Given the description of an element on the screen output the (x, y) to click on. 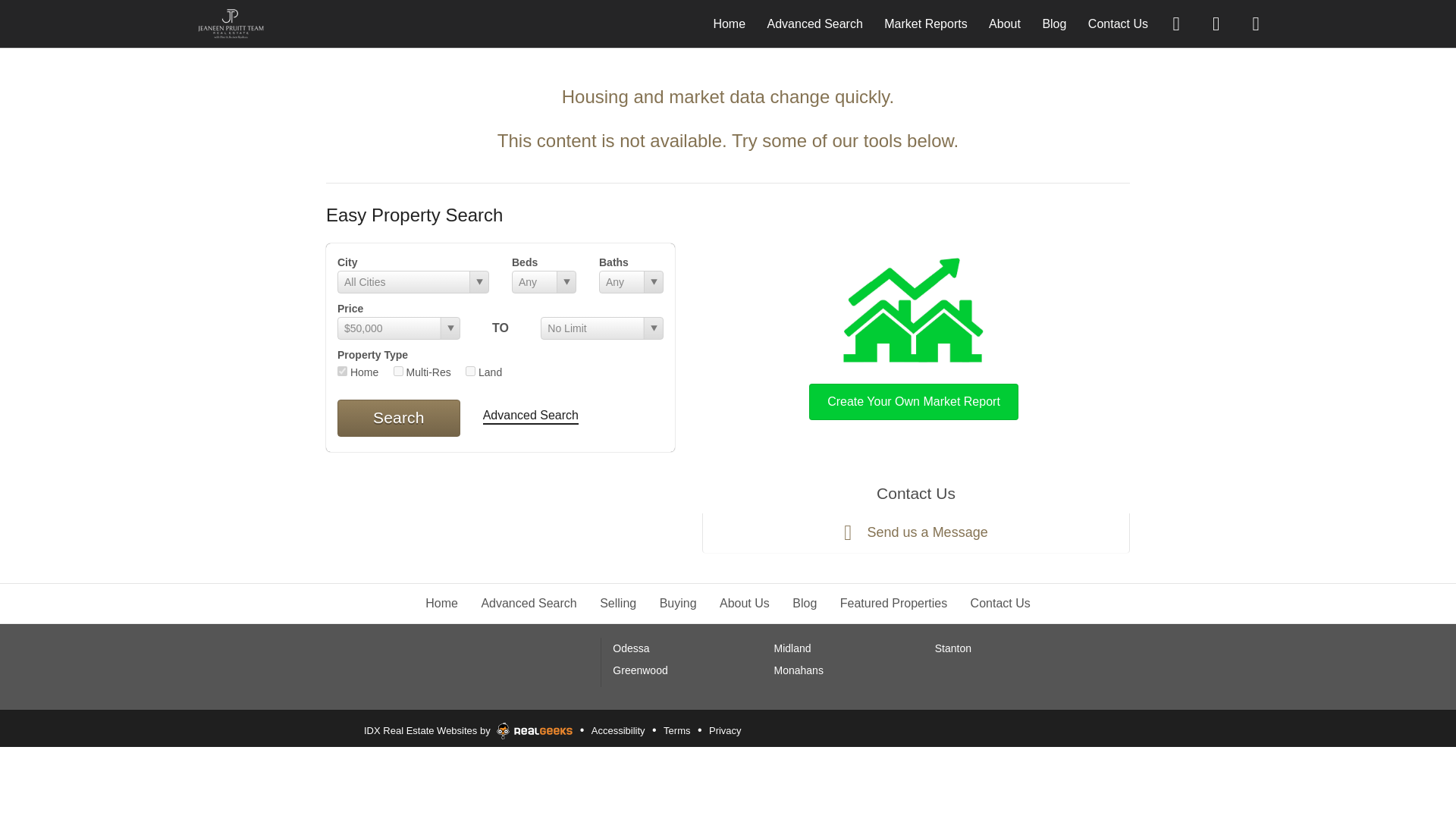
Featured Properties (893, 603)
Accessibility (618, 730)
Advanced Search (530, 416)
Search (398, 417)
Contact Us (1117, 23)
Advanced Search (815, 23)
Home (729, 23)
Send us a Message (915, 532)
Selling (617, 603)
Create Your Own Market Report (913, 335)
